Given the description of an element on the screen output the (x, y) to click on. 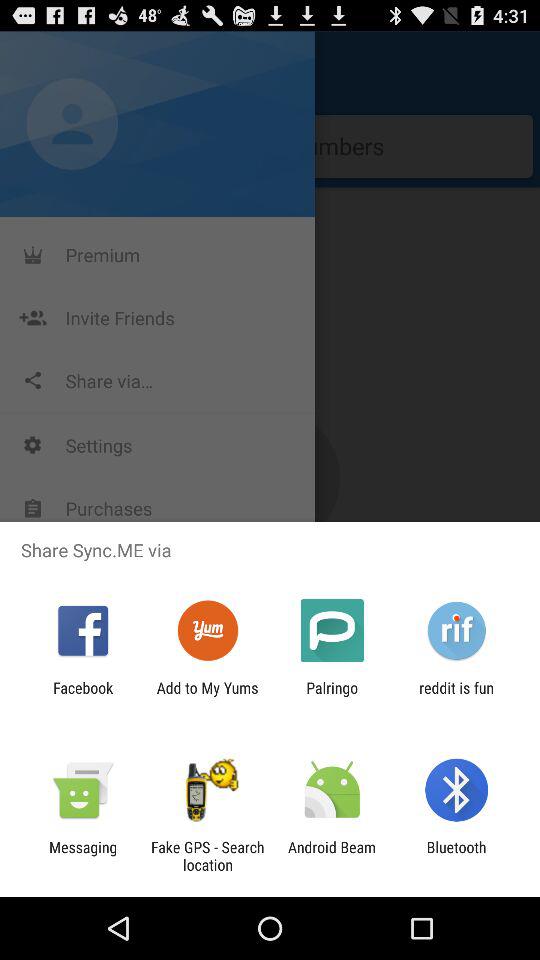
open item next to add to my item (332, 696)
